Given the description of an element on the screen output the (x, y) to click on. 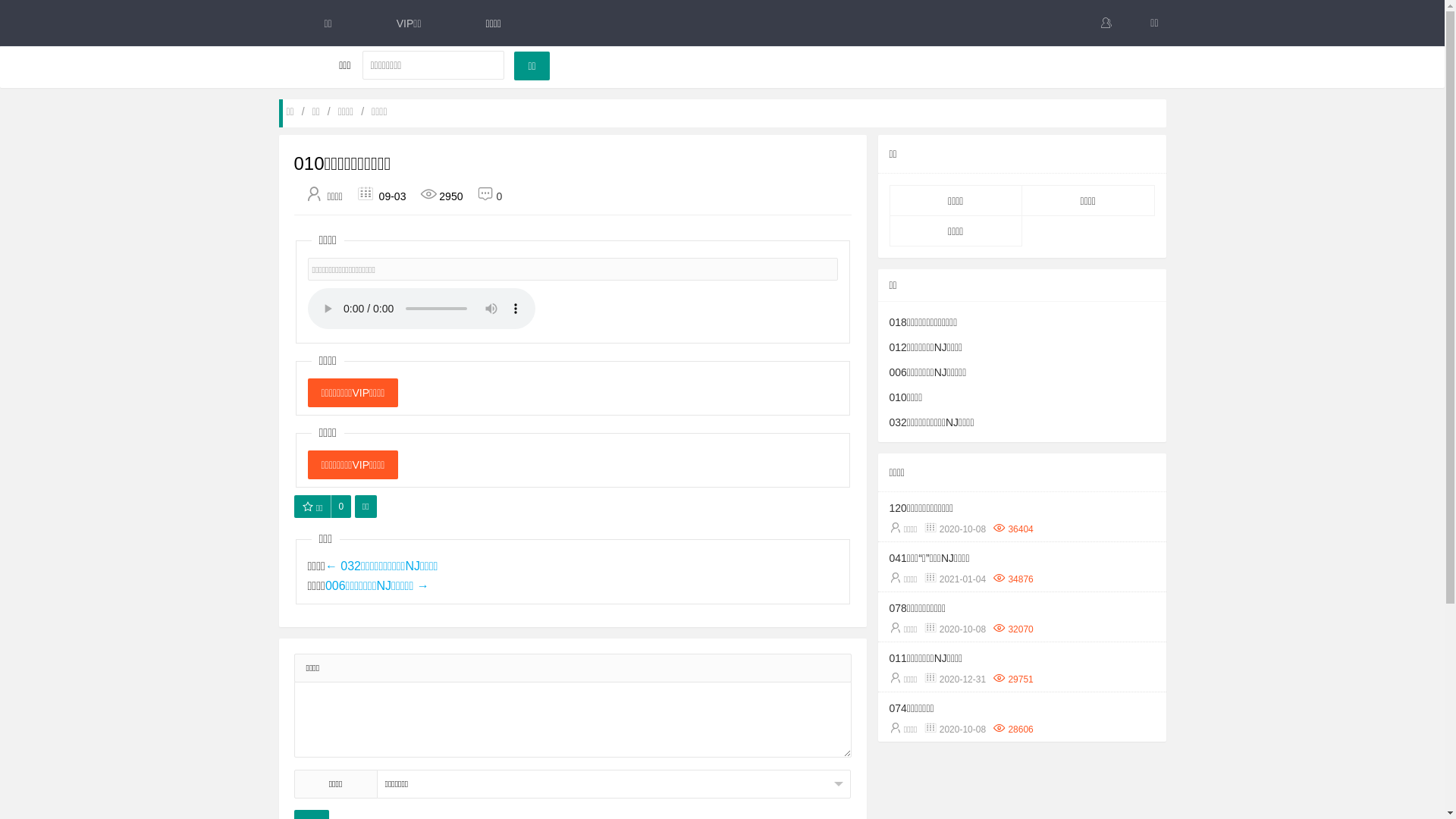
0 Element type: text (340, 506)
0 Element type: text (483, 196)
